Given the description of an element on the screen output the (x, y) to click on. 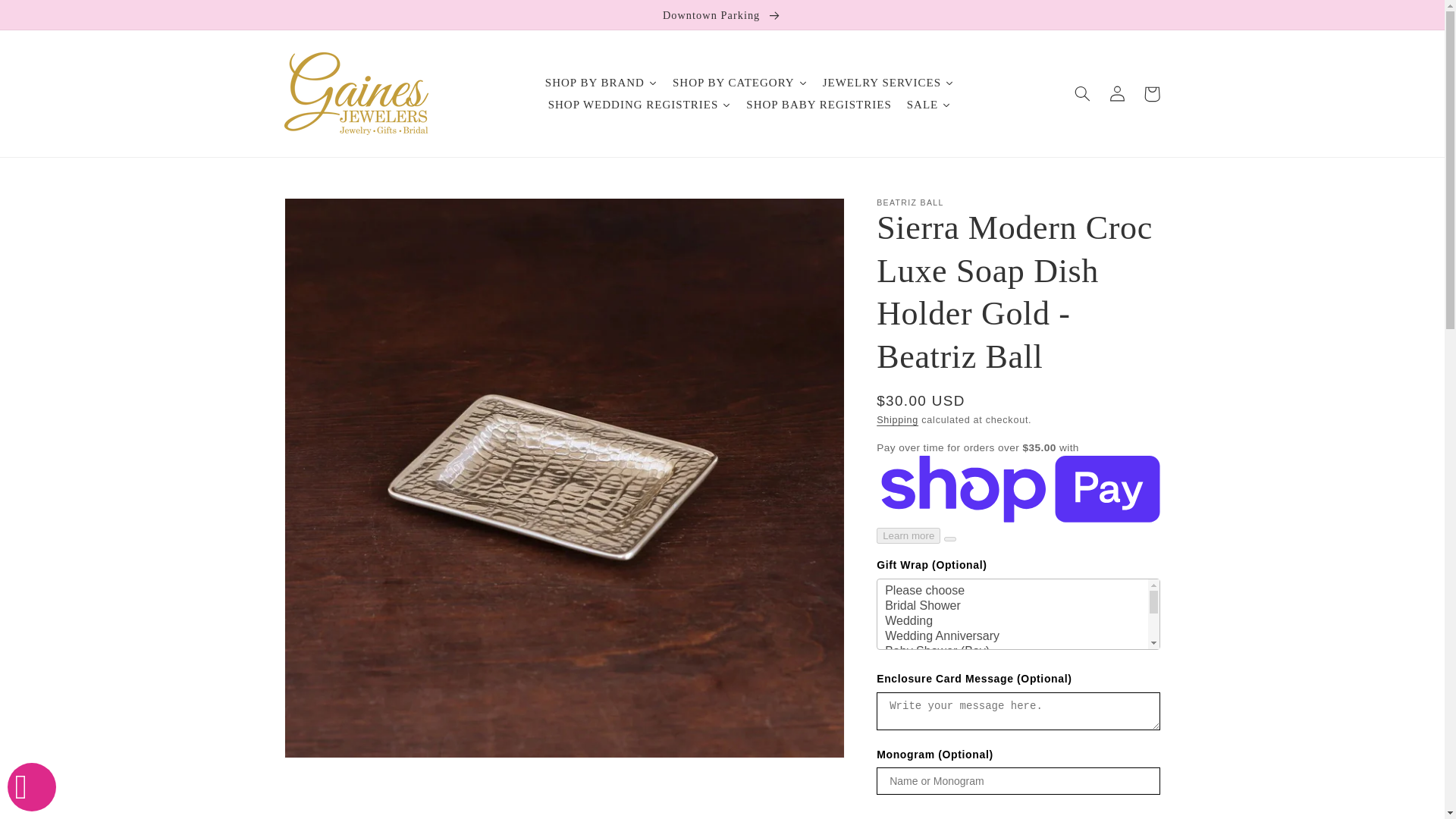
SHOP BY CATEGORY (740, 83)
SHOP WEDDING REGISTRIES (639, 105)
JEWELRY SERVICES (887, 83)
SHOP BY BRAND (601, 83)
Skip to content (47, 17)
SHOP BABY REGISTRIES (818, 105)
SALE (929, 105)
